Given the description of an element on the screen output the (x, y) to click on. 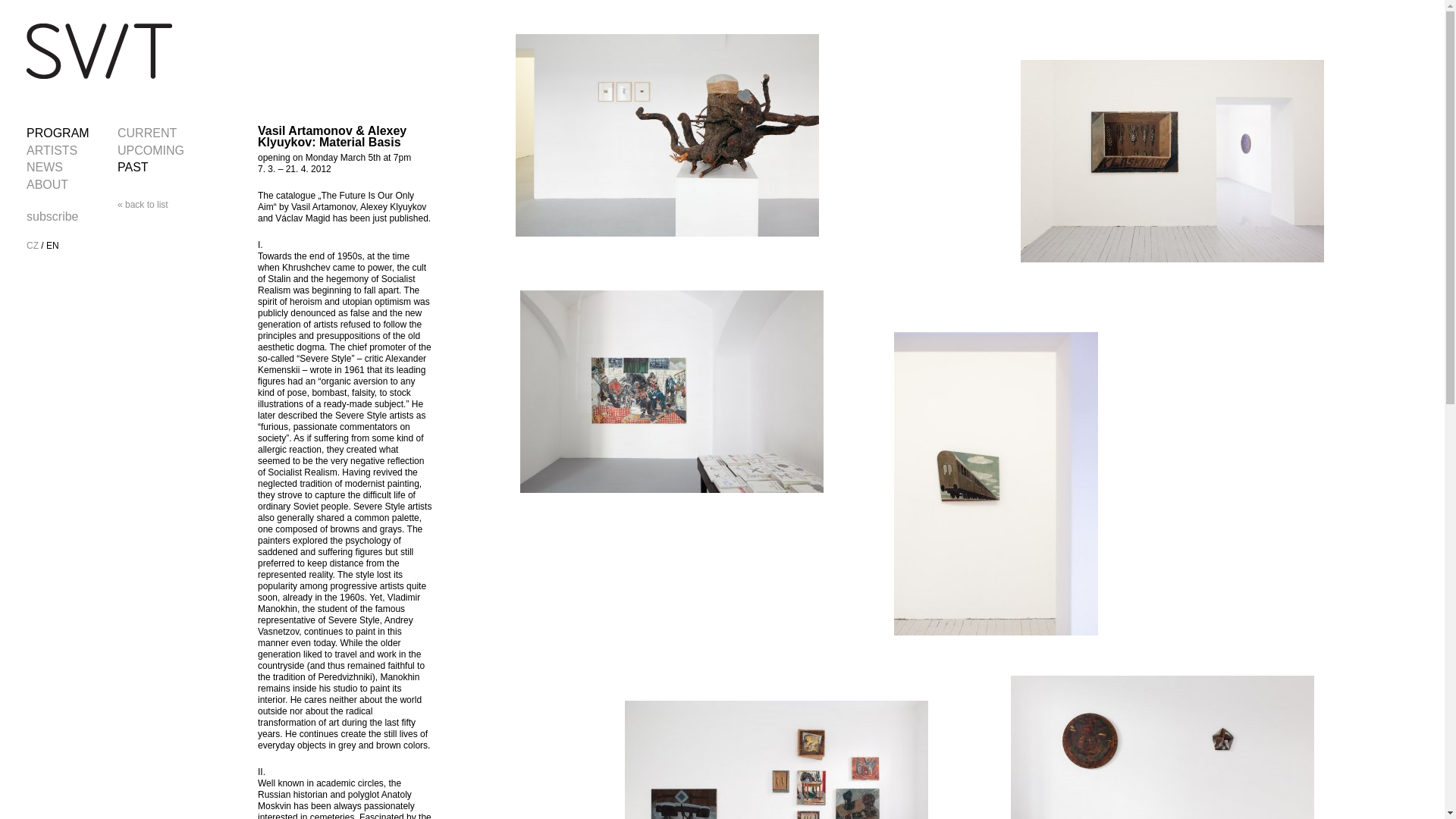
CZ (32, 245)
ARTISTS (51, 150)
PROGRAM (57, 132)
PAST (132, 166)
subscribe (52, 215)
NEWS (44, 166)
SVIT (98, 51)
UPCOMING (150, 150)
CURRENT (146, 132)
ABOUT (47, 184)
